Given the description of an element on the screen output the (x, y) to click on. 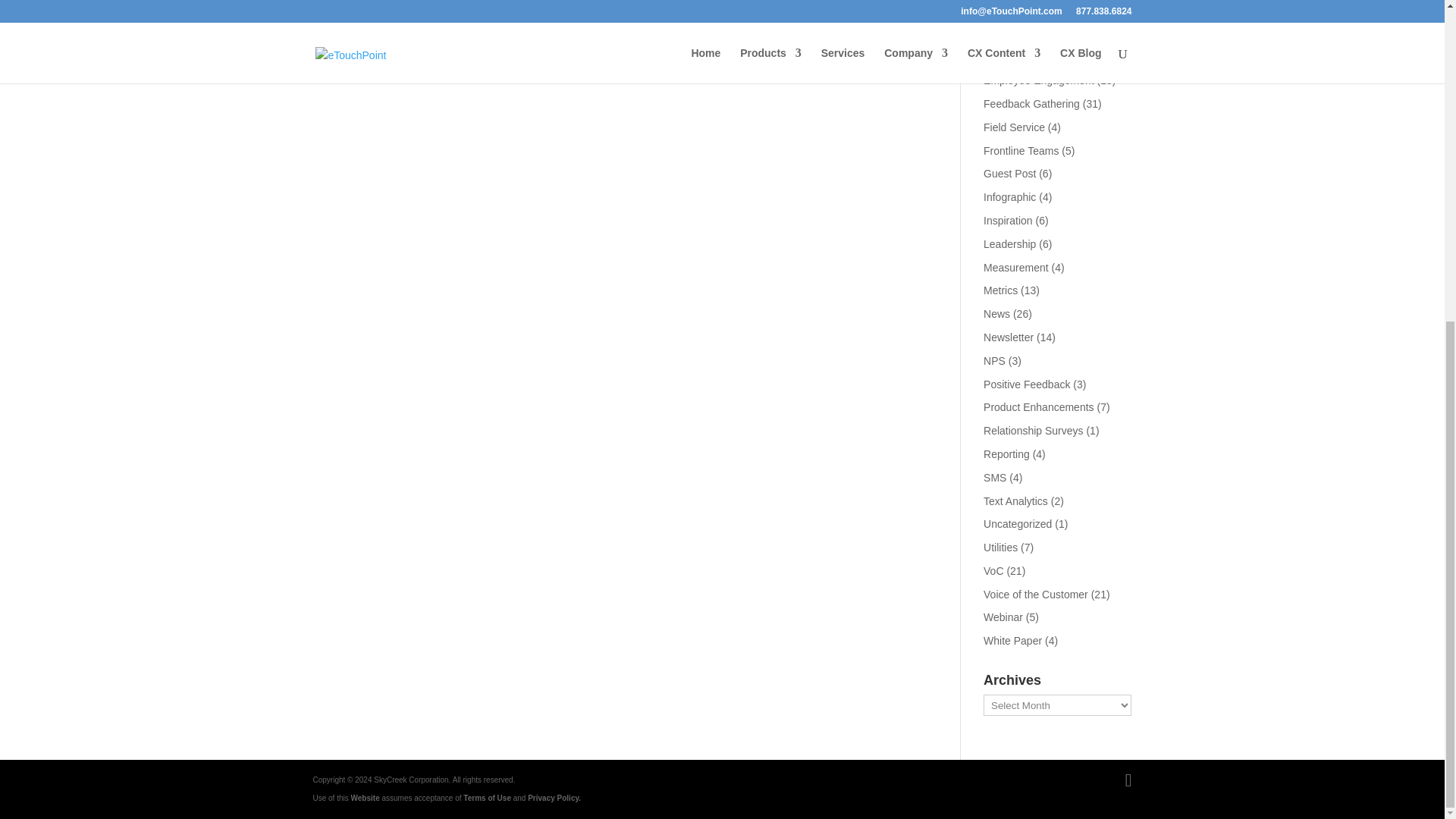
Dissatisfied Customer Management (1035, 24)
Frontline Teams (1021, 150)
Employee Engagement (1039, 80)
Emotions (1005, 56)
Feedback Gathering (1032, 103)
Guest Post (1009, 173)
Field Service (1014, 127)
Infographic (1009, 196)
